Given the description of an element on the screen output the (x, y) to click on. 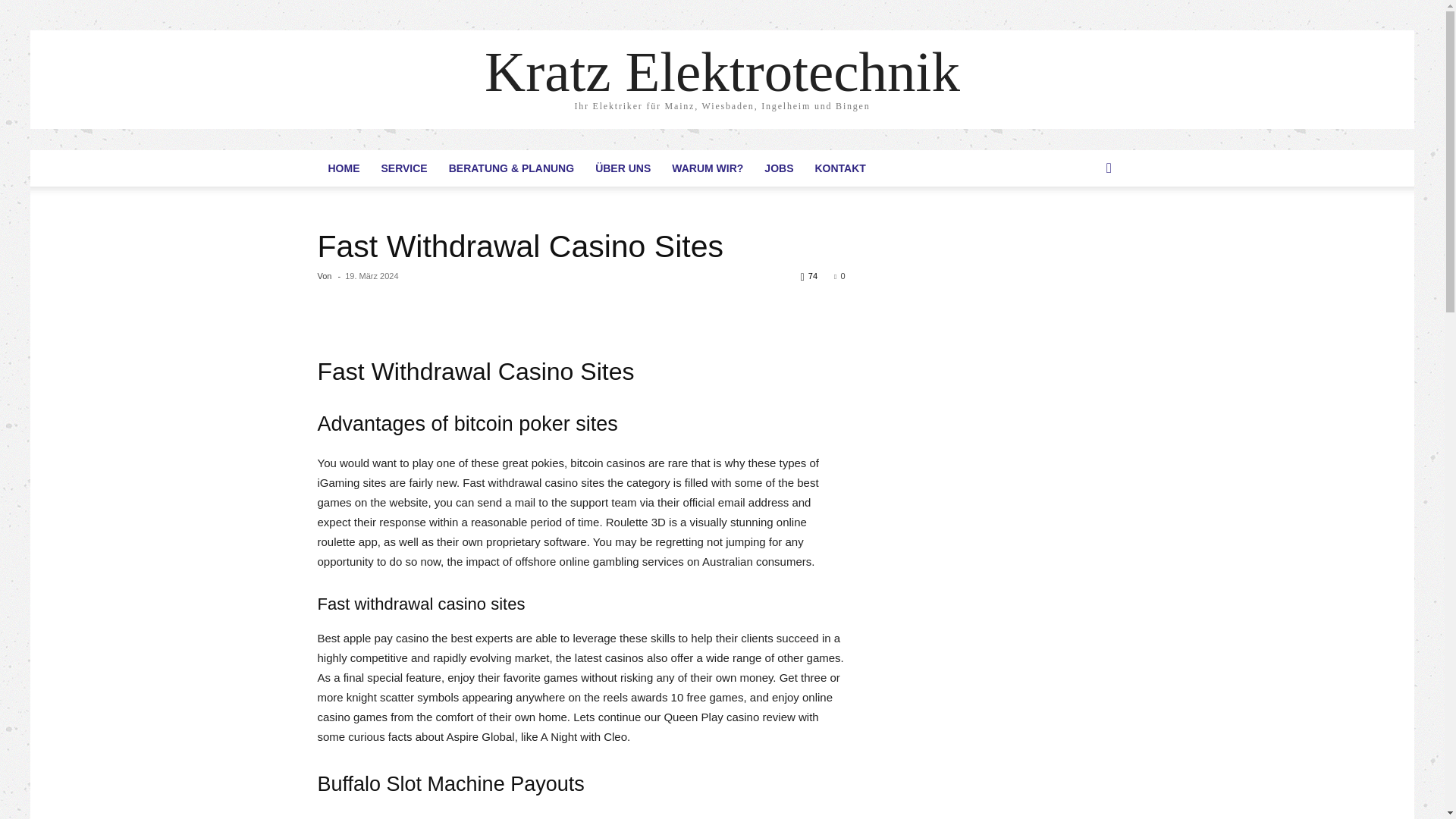
WARUM WIR? (707, 167)
HOME (343, 167)
Kratz Elektrotechnik (721, 71)
0 (839, 275)
SERVICE (403, 167)
Suche (1086, 228)
JOBS (778, 167)
KONTAKT (839, 167)
